Given the description of an element on the screen output the (x, y) to click on. 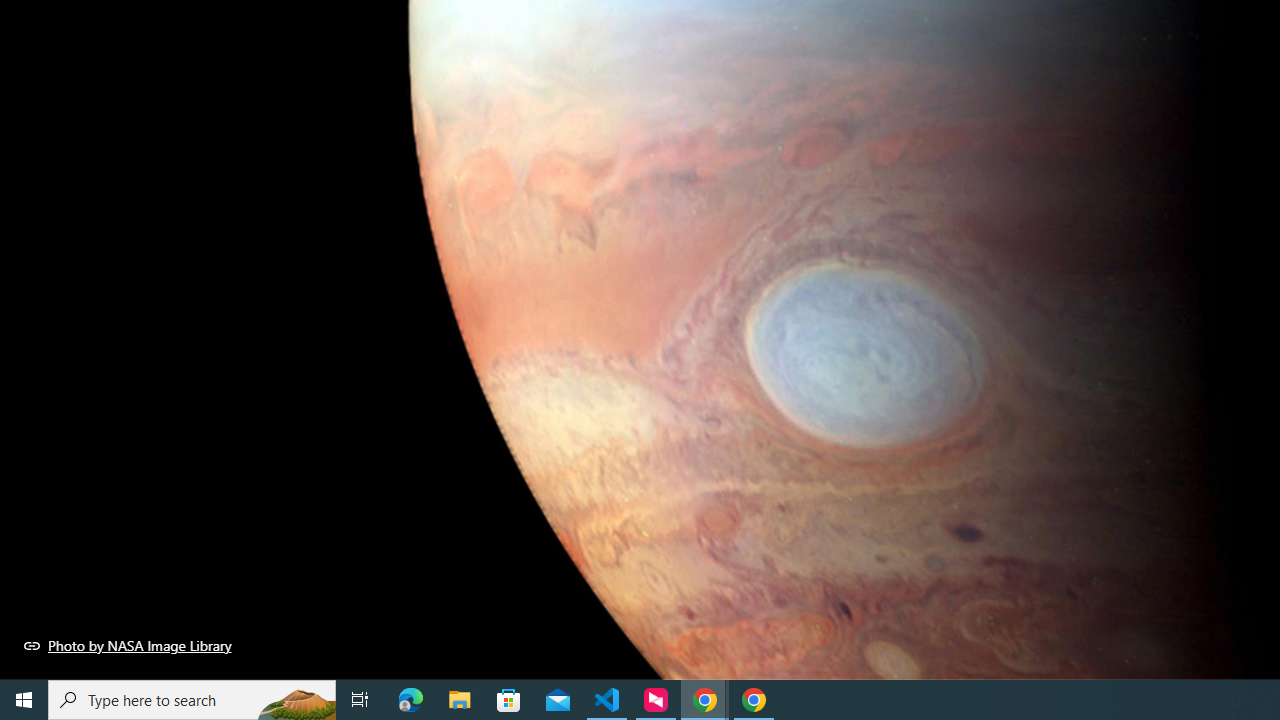
Photo by NASA Image Library (127, 645)
